Given the description of an element on the screen output the (x, y) to click on. 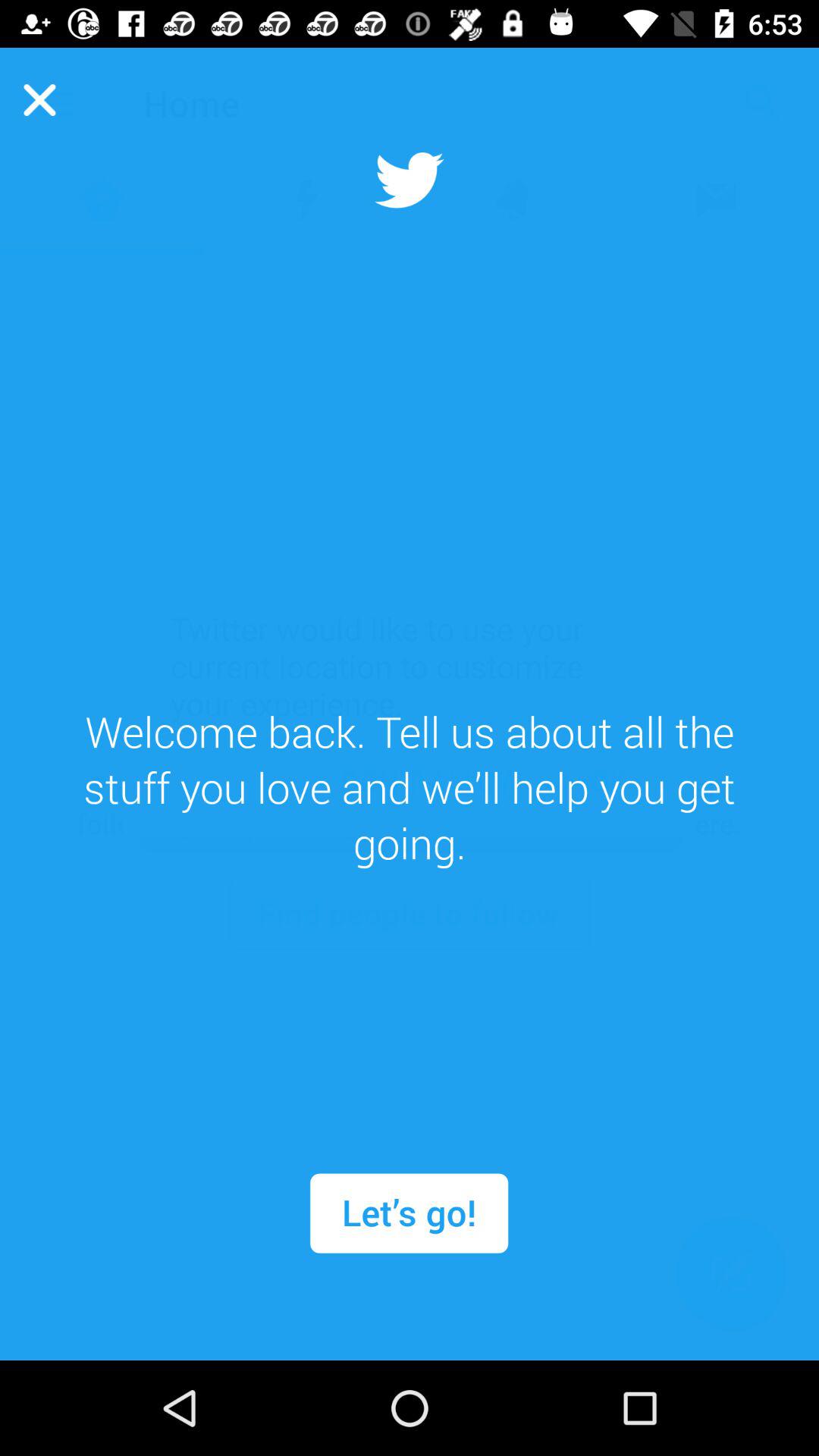
turn off item above the welcome back tell item (39, 99)
